Given the description of an element on the screen output the (x, y) to click on. 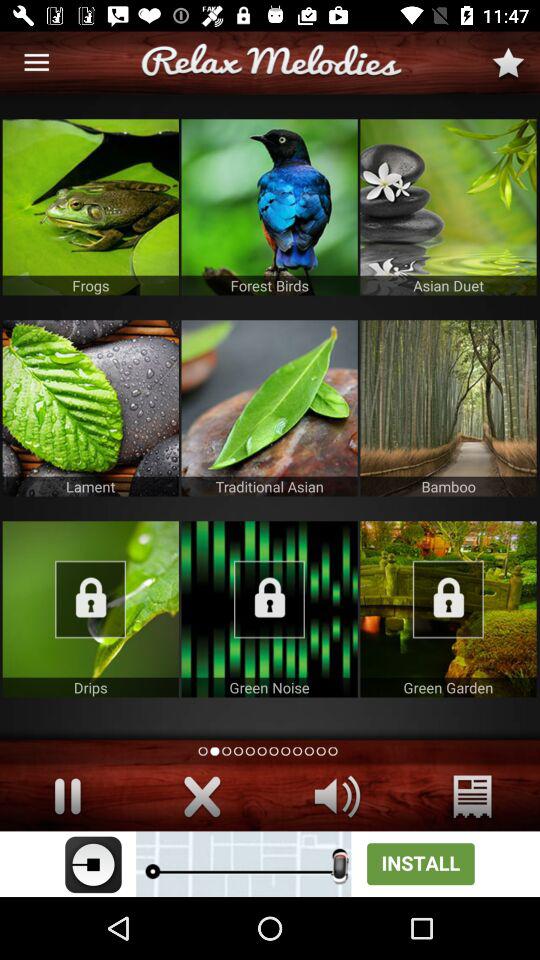
asian duet (448, 207)
